Given the description of an element on the screen output the (x, y) to click on. 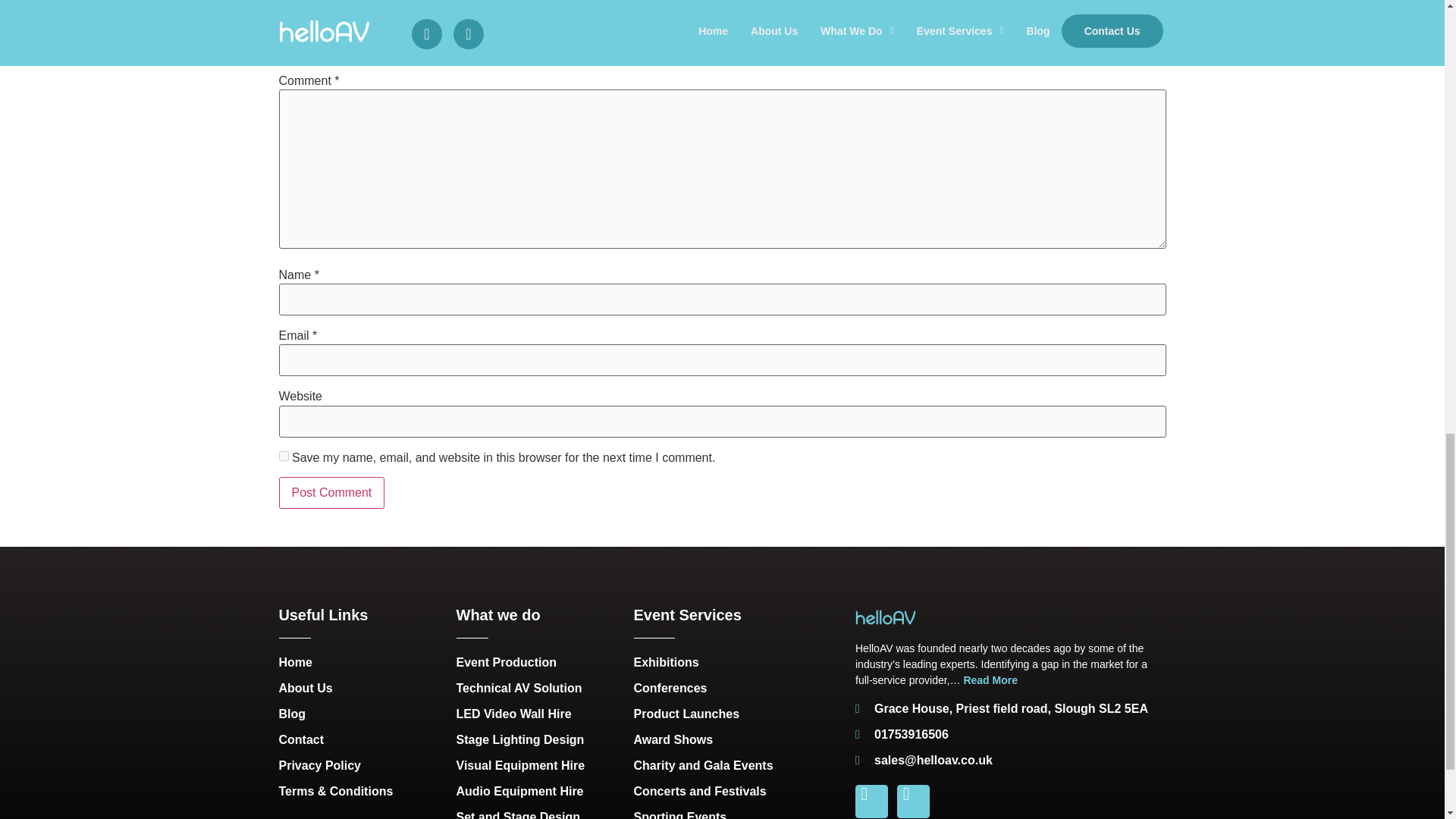
yes (283, 456)
Post Comment (332, 492)
Privacy Policy (360, 765)
Technical AV Solution (537, 688)
Post Comment (332, 492)
Contact (360, 740)
LED Video Wall Hire (537, 714)
Blog (360, 714)
helloav-logo-blue (885, 616)
Event Production (537, 662)
Home (360, 662)
About Us (360, 688)
